Given the description of an element on the screen output the (x, y) to click on. 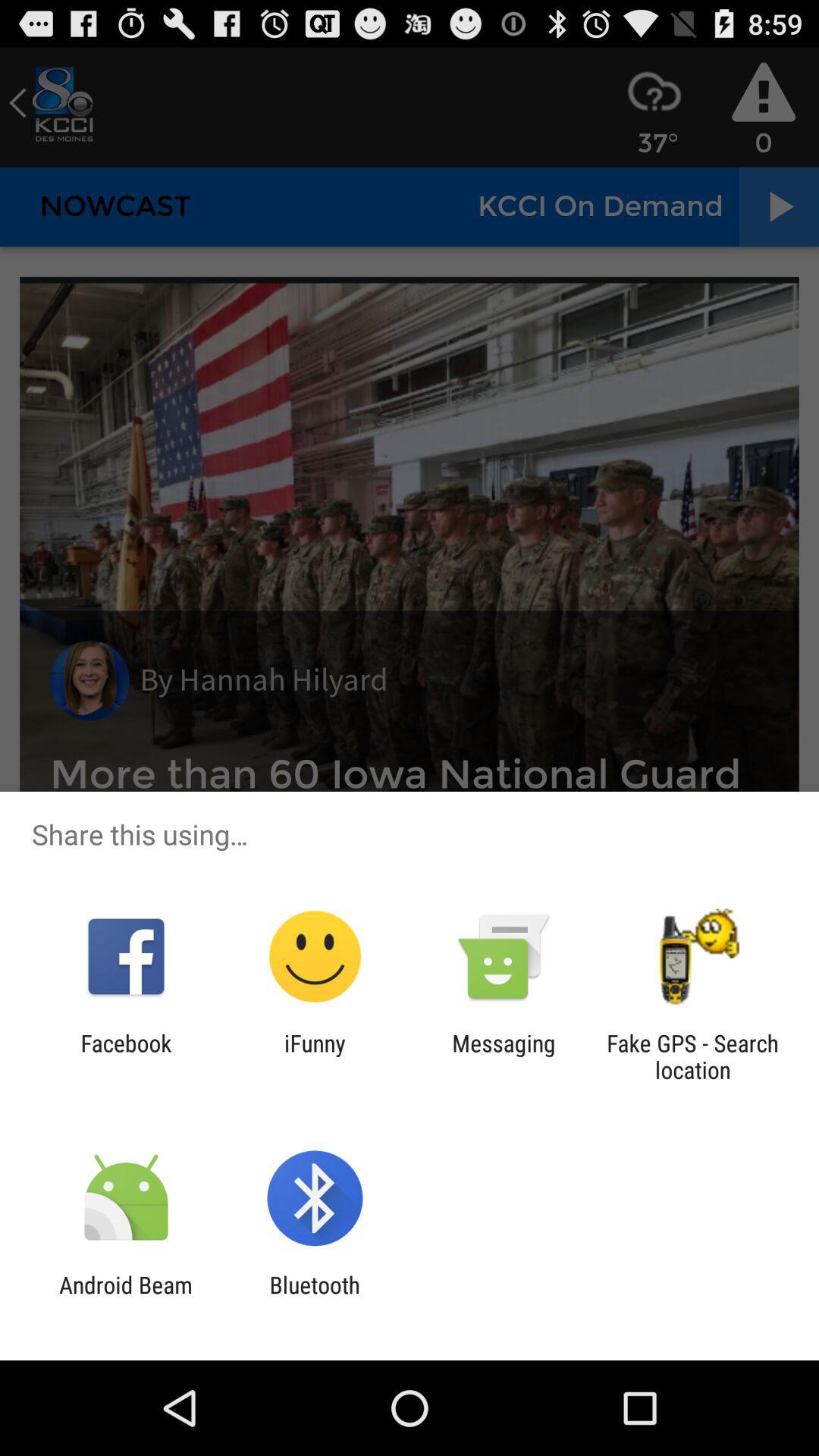
launch the ifunny item (314, 1056)
